Given the description of an element on the screen output the (x, y) to click on. 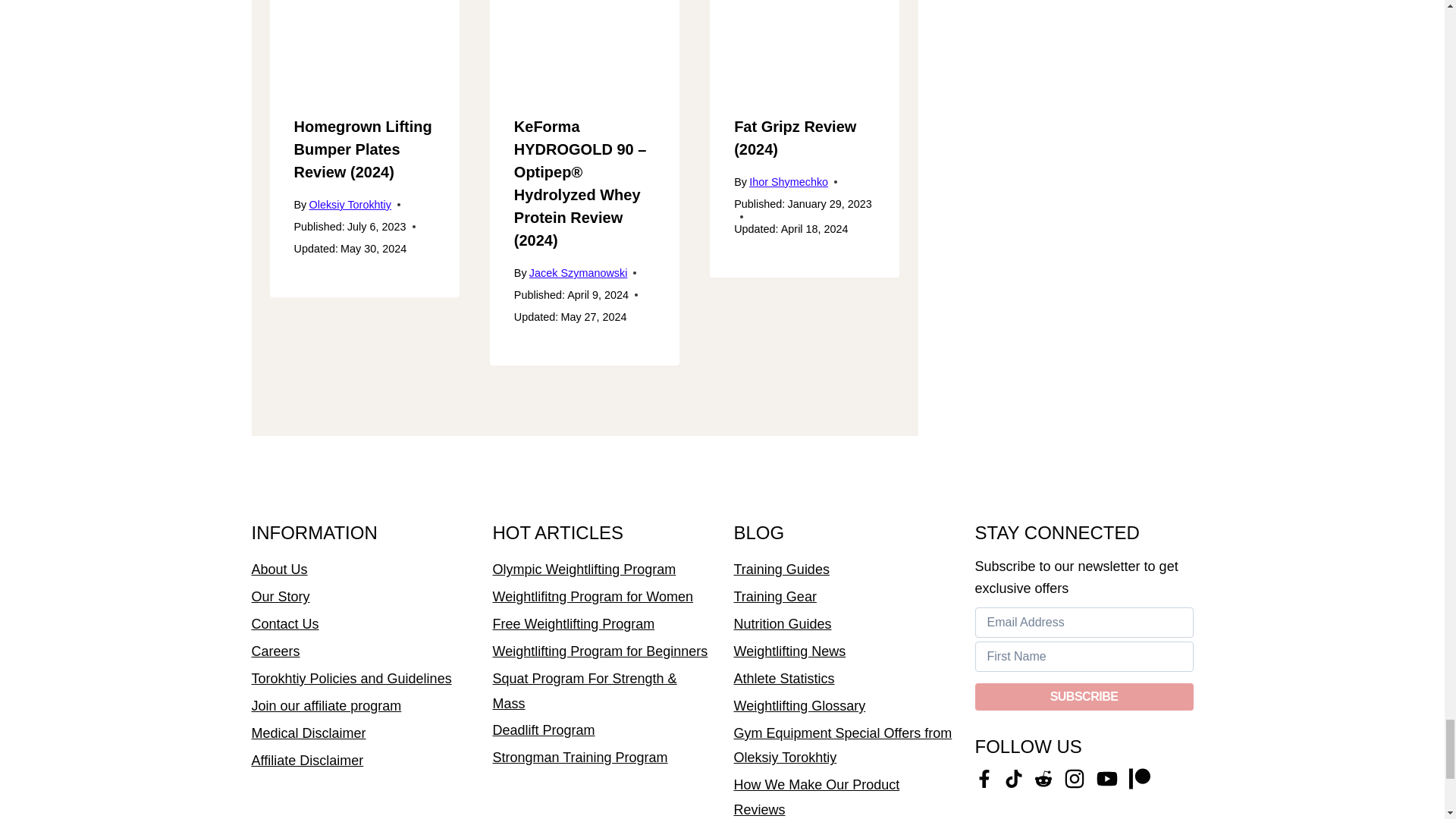
Subscribe (1084, 696)
